Given the description of an element on the screen output the (x, y) to click on. 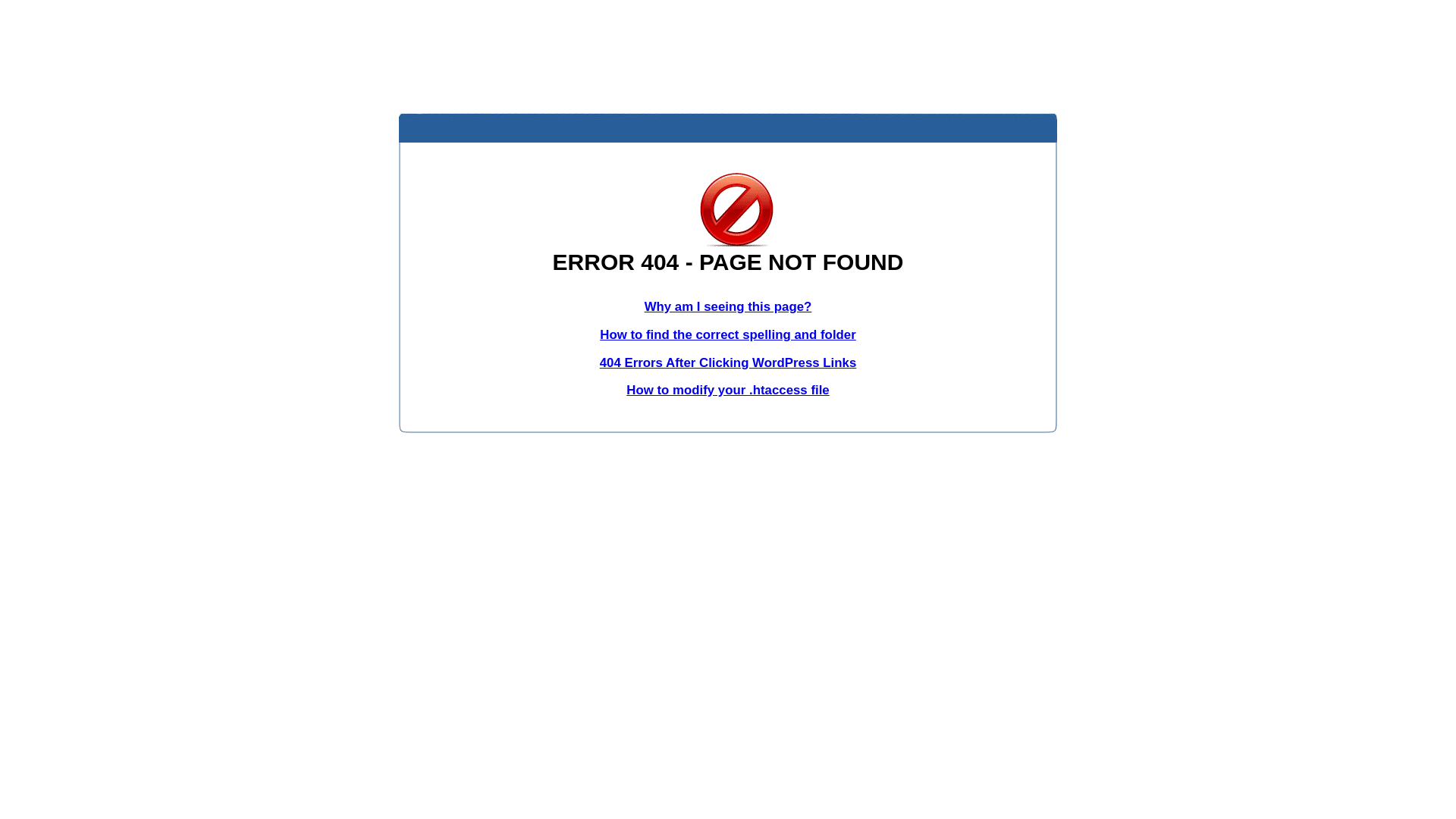
Why am I seeing this page? Element type: text (728, 306)
How to modify your .htaccess file Element type: text (727, 389)
How to find the correct spelling and folder Element type: text (727, 334)
404 Errors After Clicking WordPress Links Element type: text (727, 362)
